Given the description of an element on the screen output the (x, y) to click on. 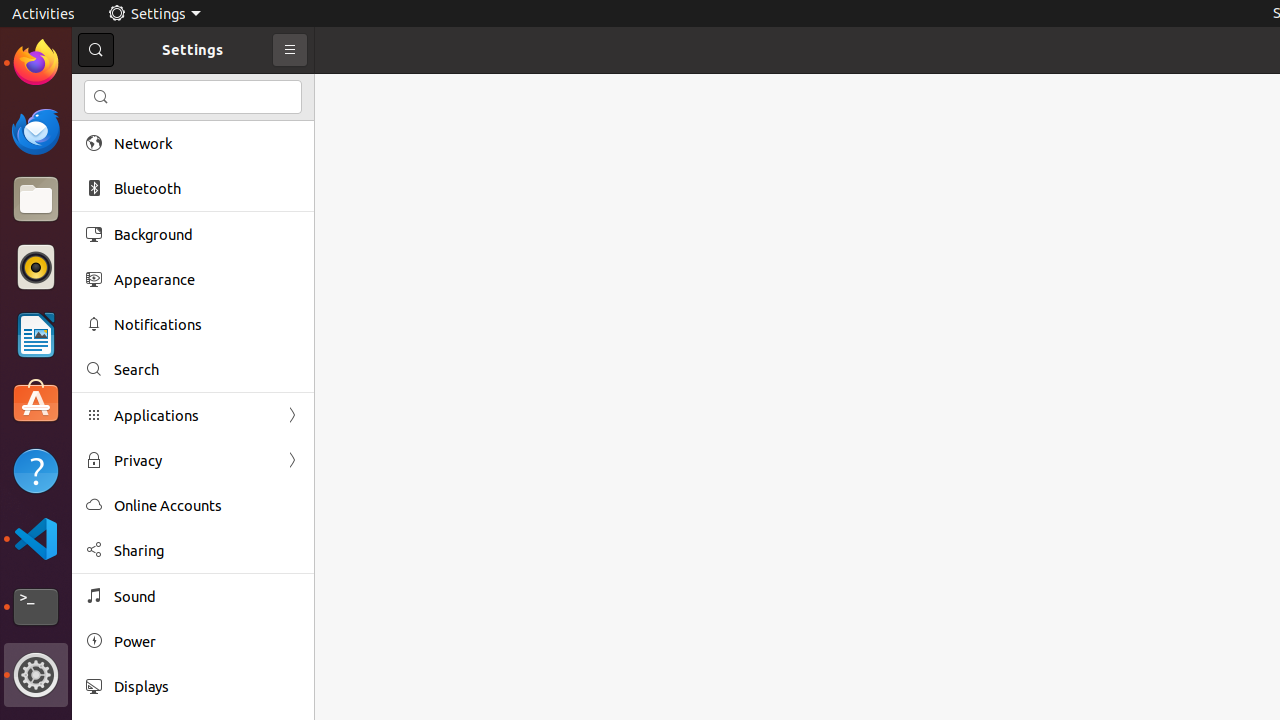
Primary Menu Element type: toggle-button (290, 50)
luyi1 Element type: label (133, 89)
Activities Element type: label (43, 13)
Notifications Element type: label (207, 324)
li.txt Element type: label (259, 89)
